Given the description of an element on the screen output the (x, y) to click on. 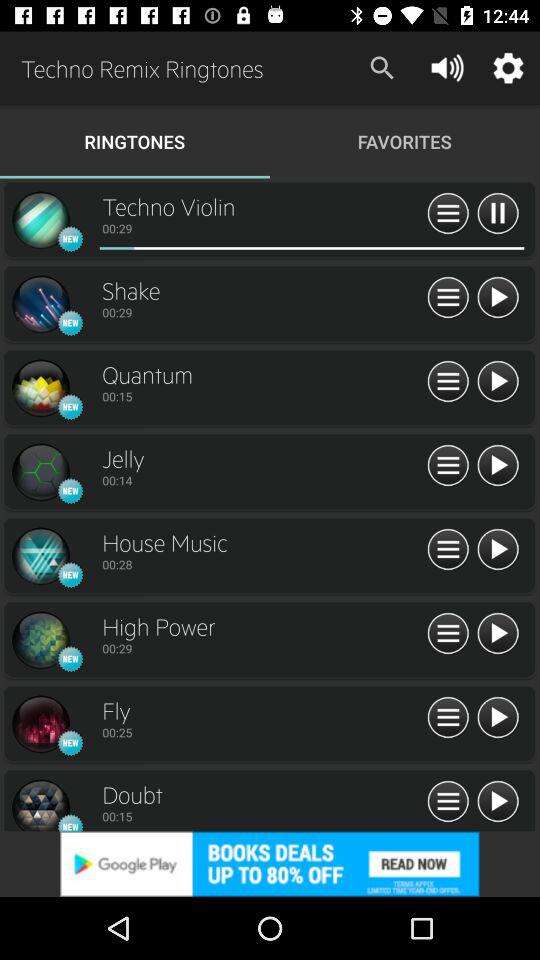
click pause button (447, 633)
